Given the description of an element on the screen output the (x, y) to click on. 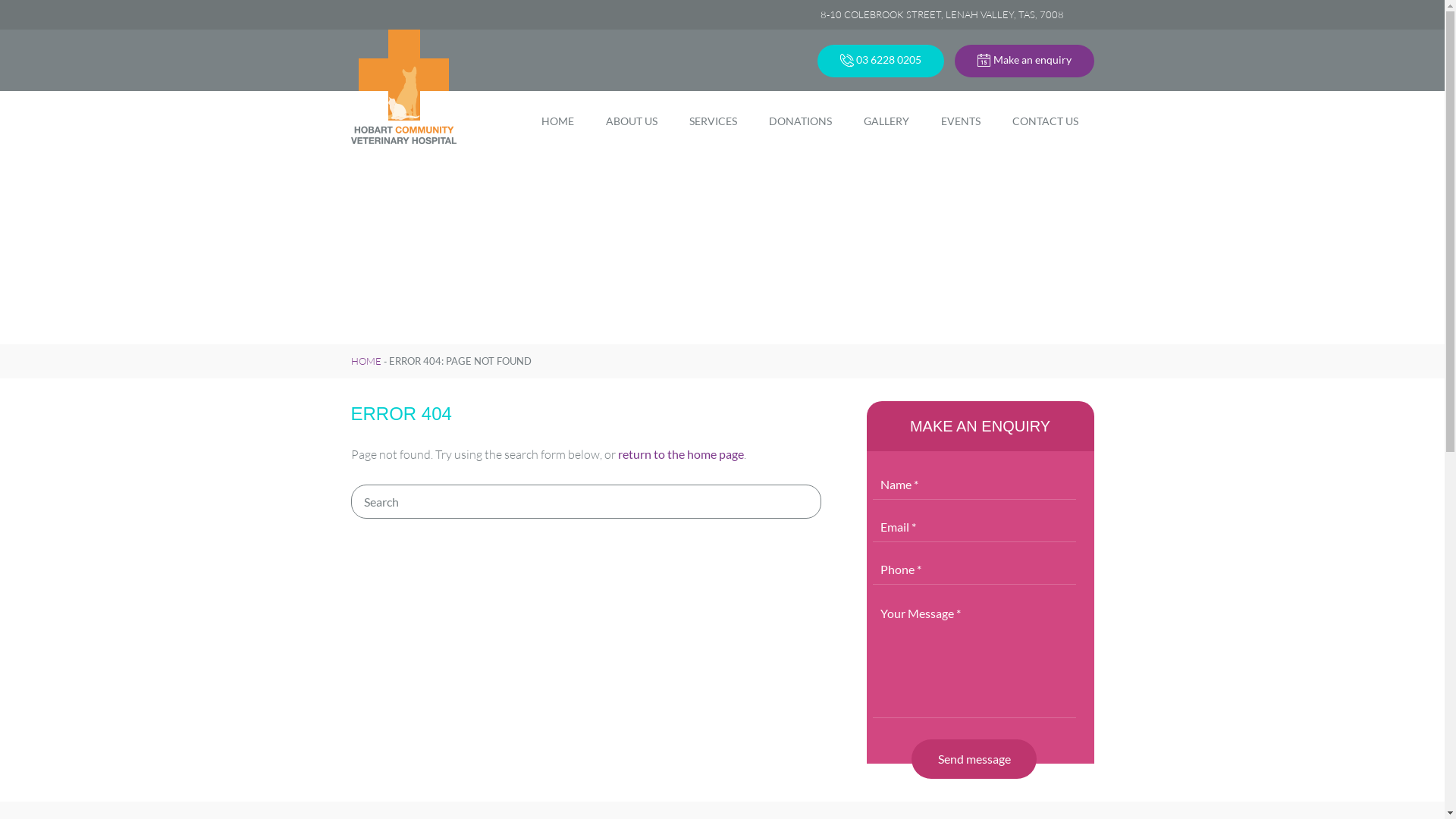
EVENTS Element type: text (960, 121)
Send message Element type: text (973, 759)
HOME Element type: text (556, 121)
CONTACT US Element type: text (1045, 121)
Search Element type: hover (585, 501)
Make an enquiry Element type: text (1023, 60)
GALLERY Element type: text (886, 121)
SERVICES Element type: text (713, 121)
03 6228 0205 Element type: text (880, 60)
return to the home page Element type: text (680, 453)
HOME Element type: text (365, 360)
ABOUT US Element type: text (631, 121)
DONATIONS Element type: text (799, 121)
